Given the description of an element on the screen output the (x, y) to click on. 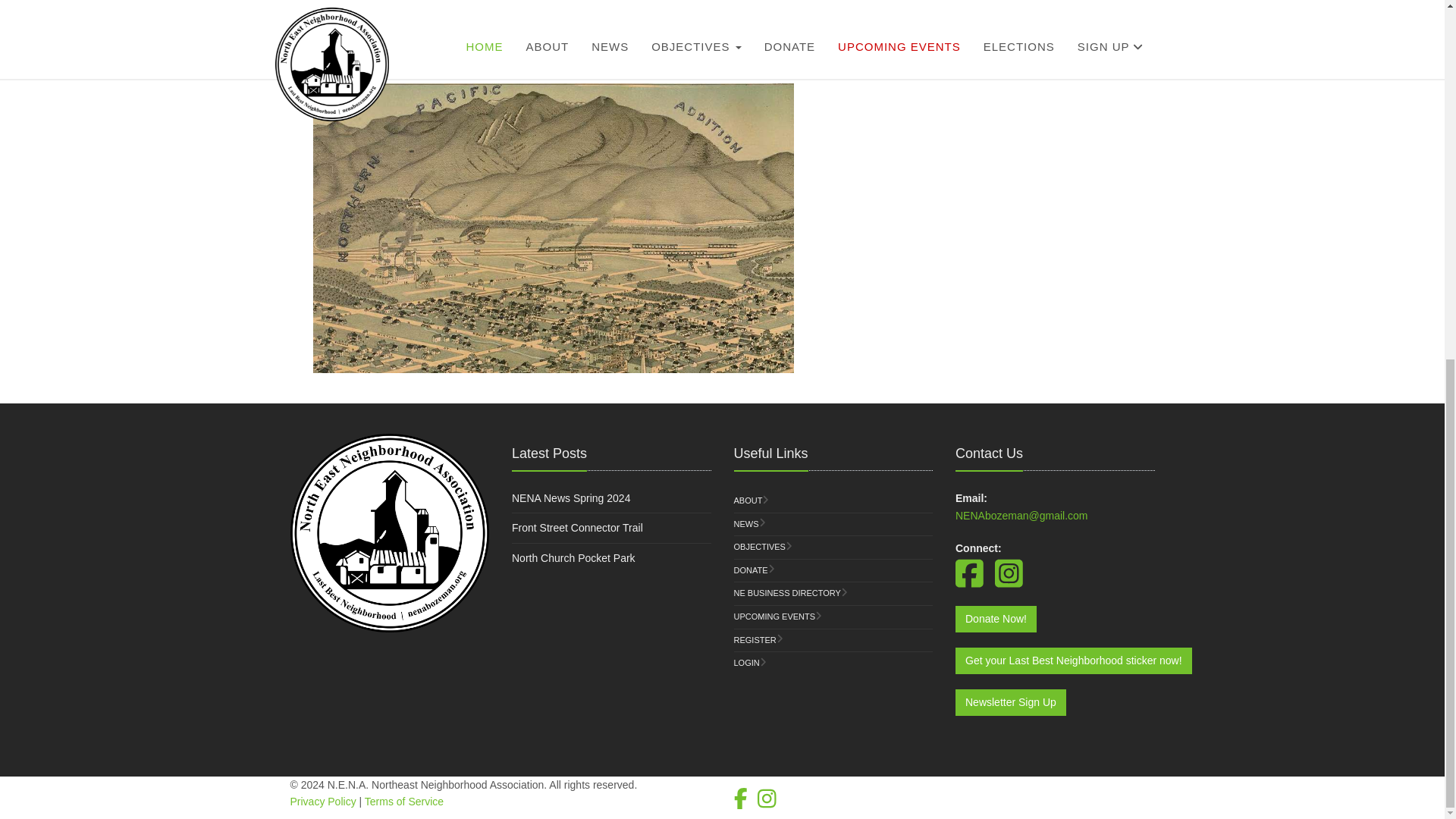
Front Street Connector Trail (577, 527)
NENA News Spring 2024 (571, 498)
